Given the description of an element on the screen output the (x, y) to click on. 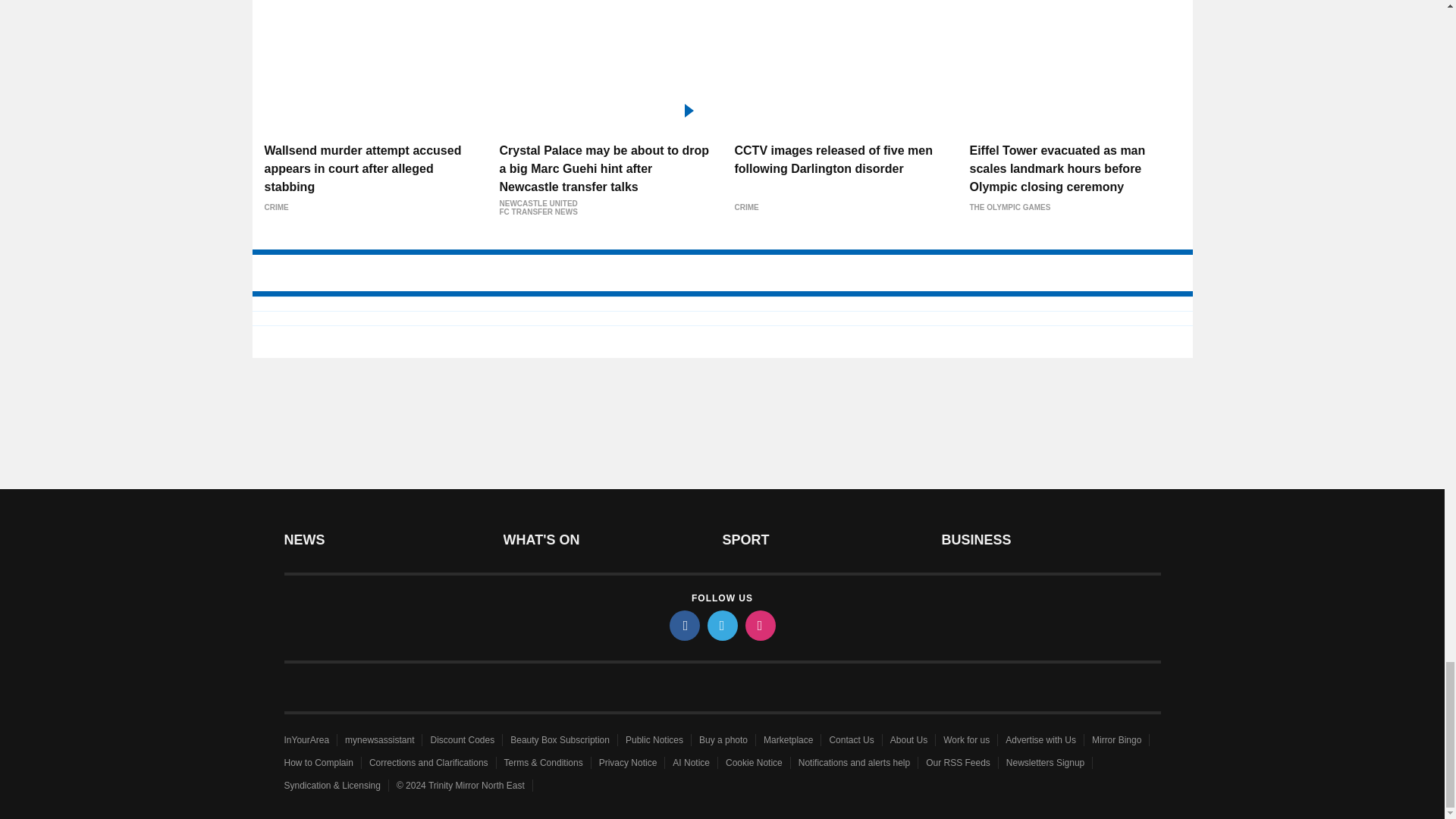
facebook (683, 625)
instagram (759, 625)
twitter (721, 625)
